Given the description of an element on the screen output the (x, y) to click on. 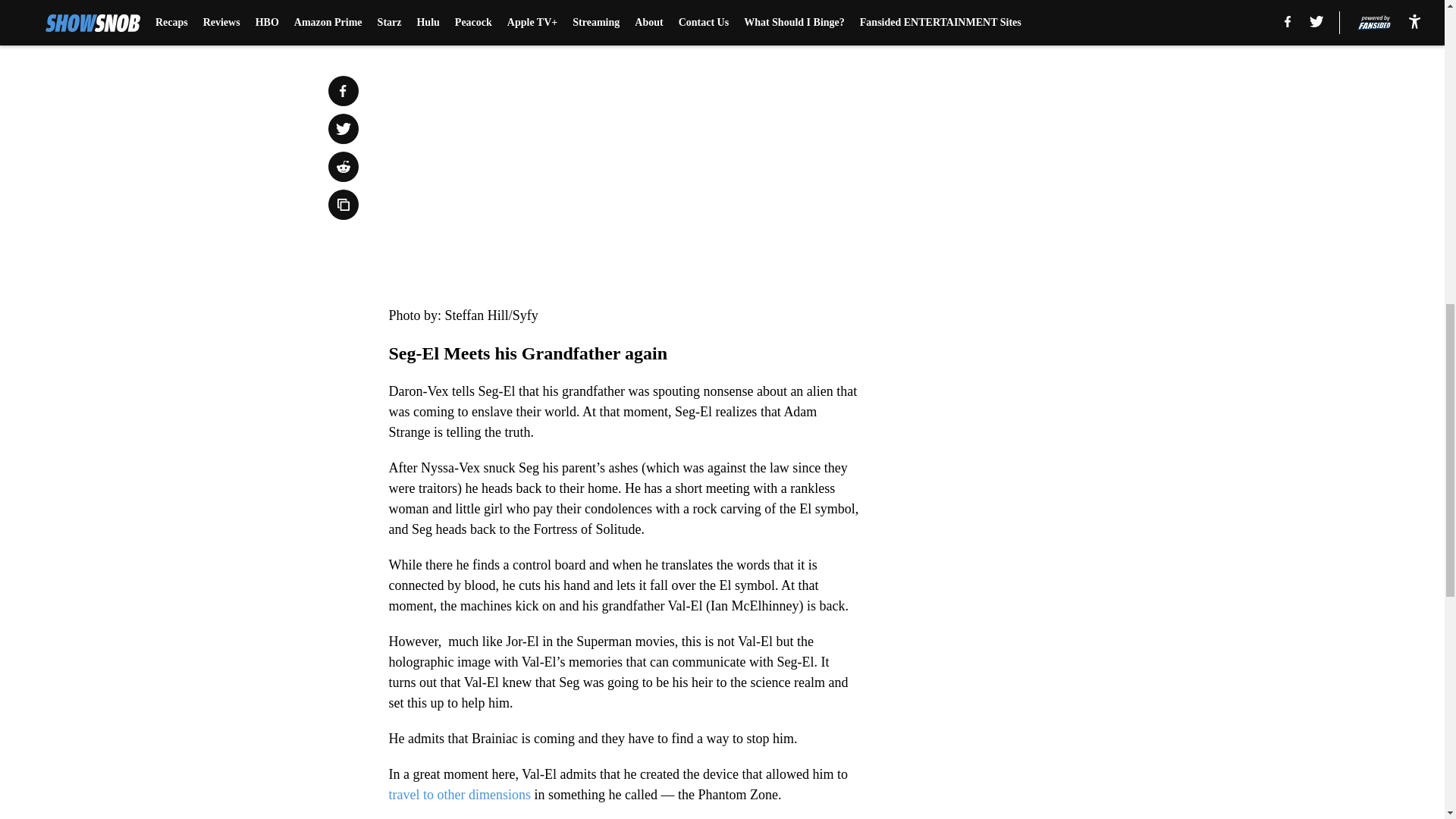
Prev (433, 5)
Next (813, 5)
travel to other dimensions (458, 794)
